Given the description of an element on the screen output the (x, y) to click on. 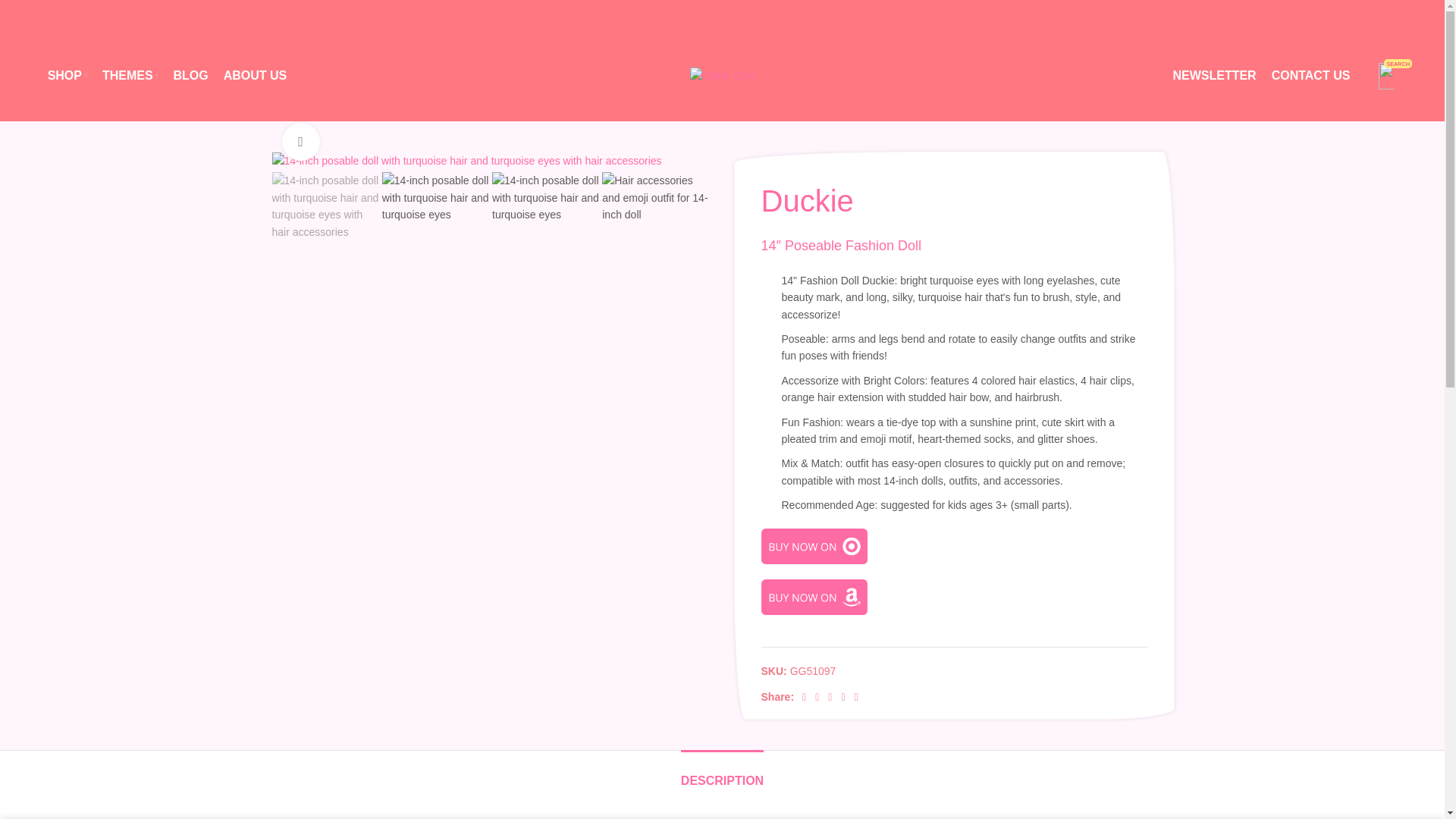
BLOG (190, 75)
ABOUT US (1213, 75)
SHOP (255, 75)
THEMES (67, 75)
CONTACT US (129, 75)
